Given the description of an element on the screen output the (x, y) to click on. 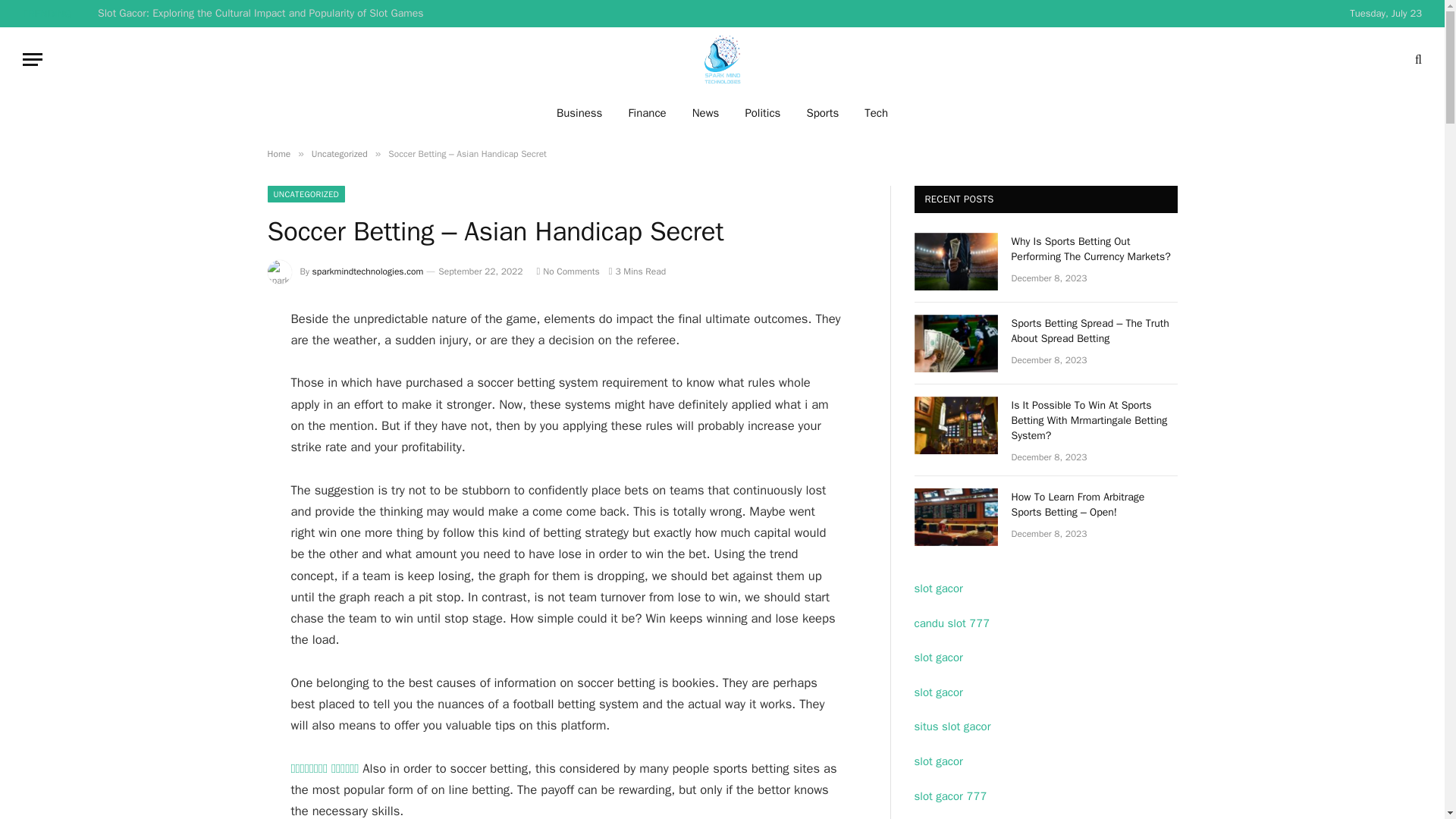
Uncategorized (339, 153)
Politics (762, 112)
Home (277, 153)
Tech (876, 112)
Posts by sparkmindtechnologies.com (368, 271)
Why Is Sports Betting Out Performing The Currency Markets? (955, 261)
Business (579, 112)
sparkmindtechnologies.com (368, 271)
Sparkmindtechnologies (722, 59)
Finance (646, 112)
Sports (822, 112)
UNCATEGORIZED (305, 193)
News (705, 112)
